Given the description of an element on the screen output the (x, y) to click on. 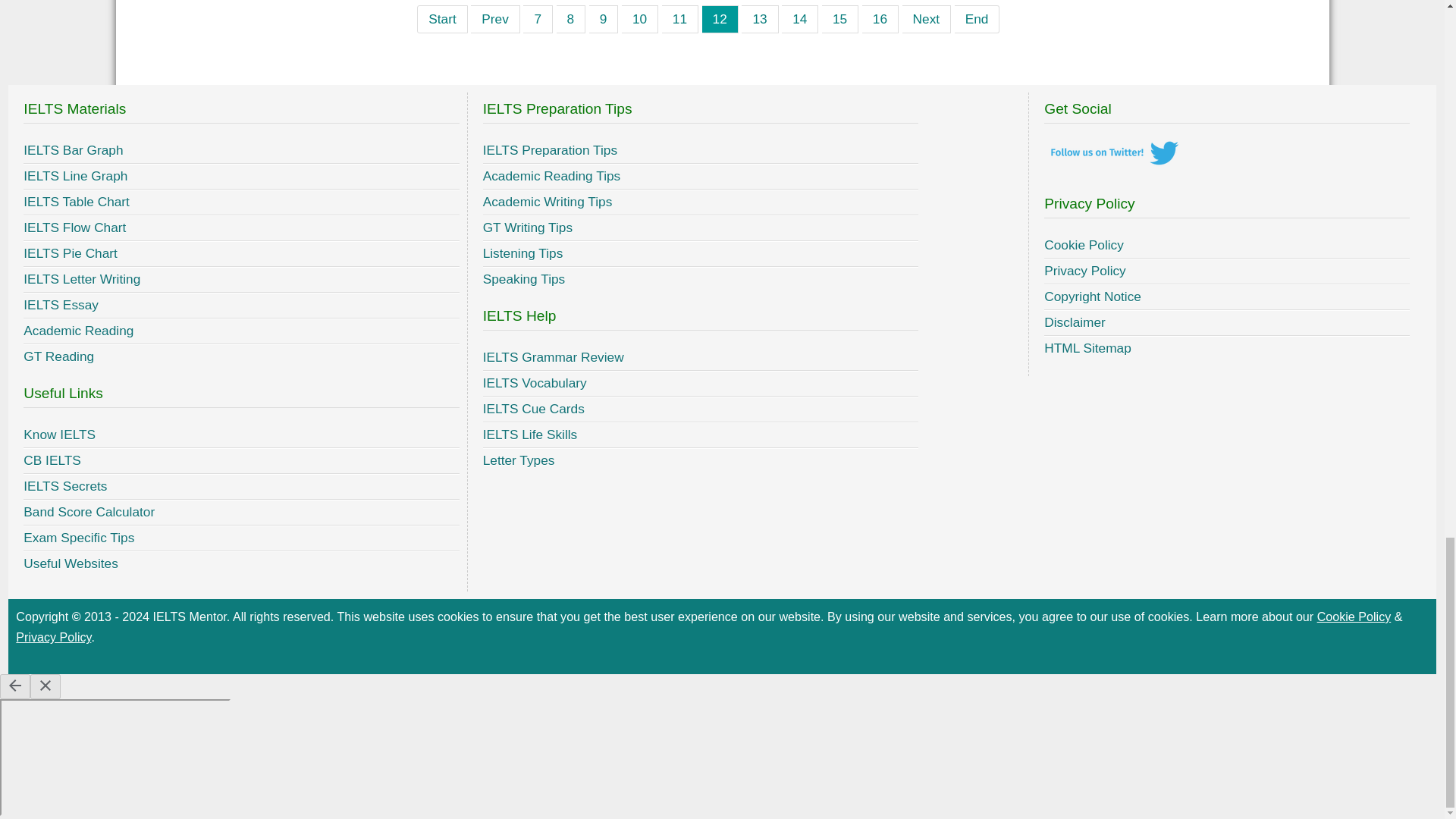
Cookie Policy (1354, 616)
Privacy Policy (53, 636)
